Given the description of an element on the screen output the (x, y) to click on. 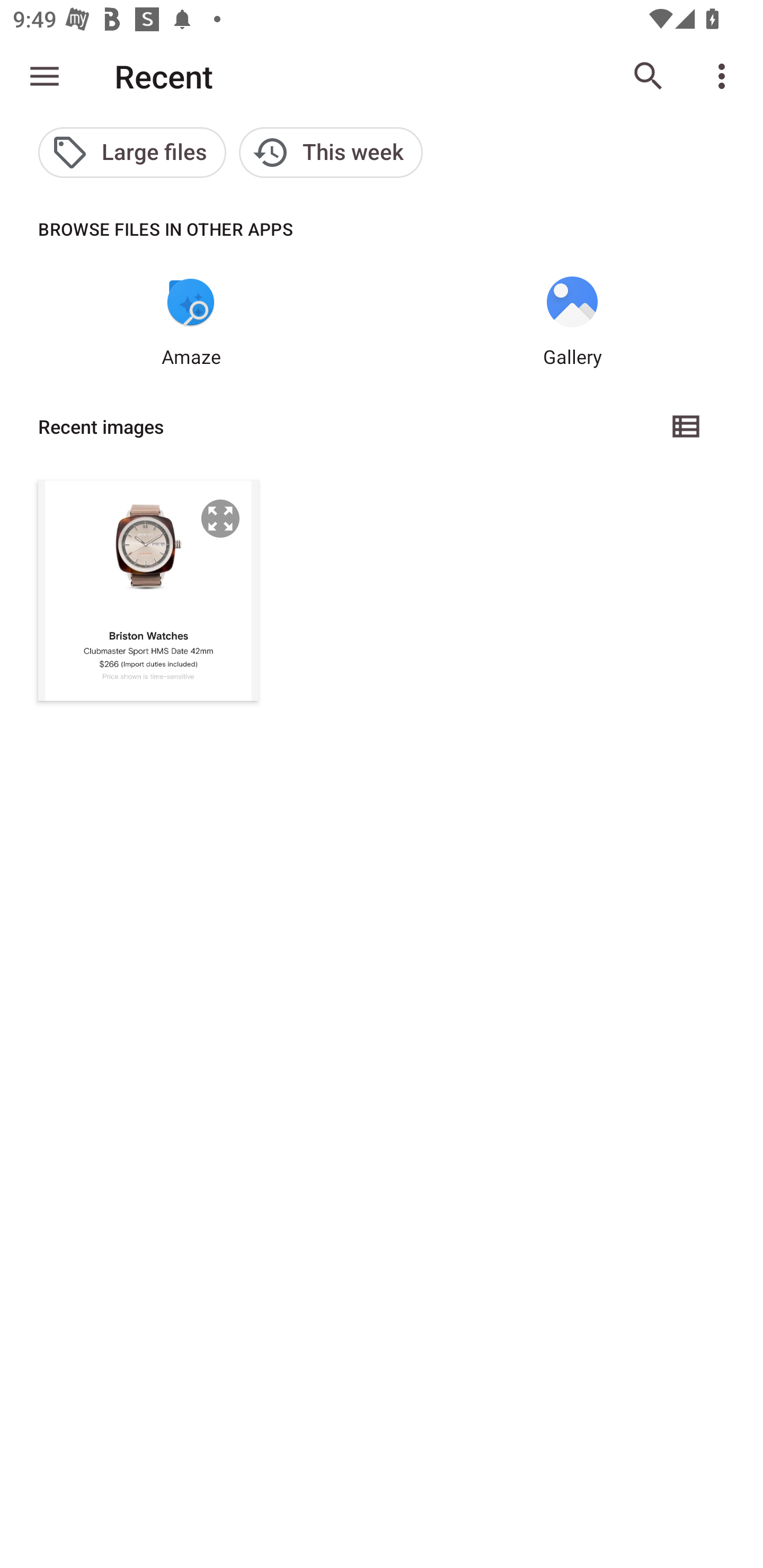
Show roots (44, 75)
Search (648, 75)
More options (724, 75)
Large files (132, 152)
This week (330, 152)
Amaze (190, 322)
Gallery (572, 322)
List view (686, 426)
Preview the file farfetch-poster-1709626146897.jpg (220, 517)
